Given the description of an element on the screen output the (x, y) to click on. 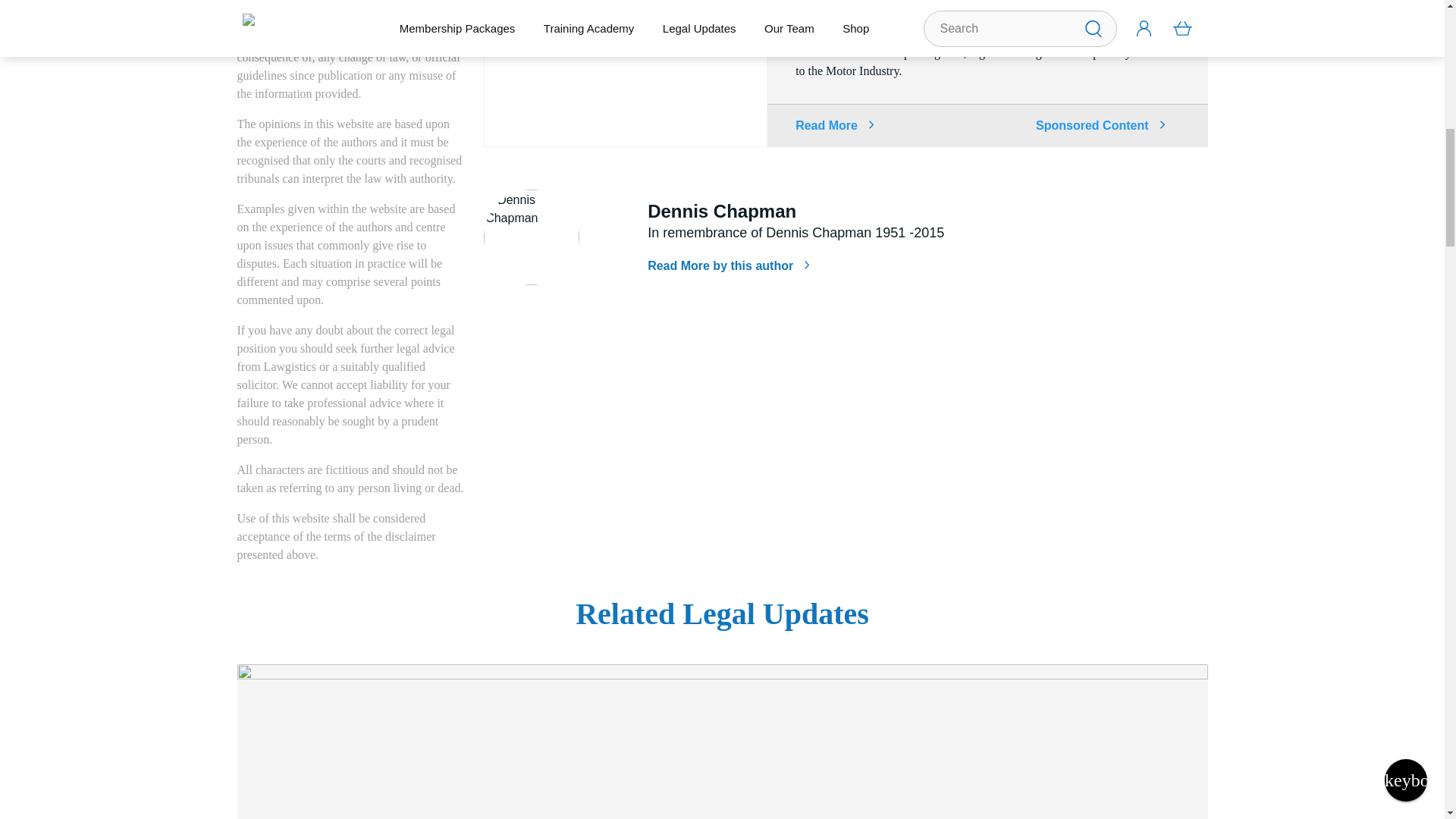
Dennis Chapman (531, 237)
Sponsored Content (1099, 126)
Read More (833, 124)
Read More by this author (728, 265)
